Given the description of an element on the screen output the (x, y) to click on. 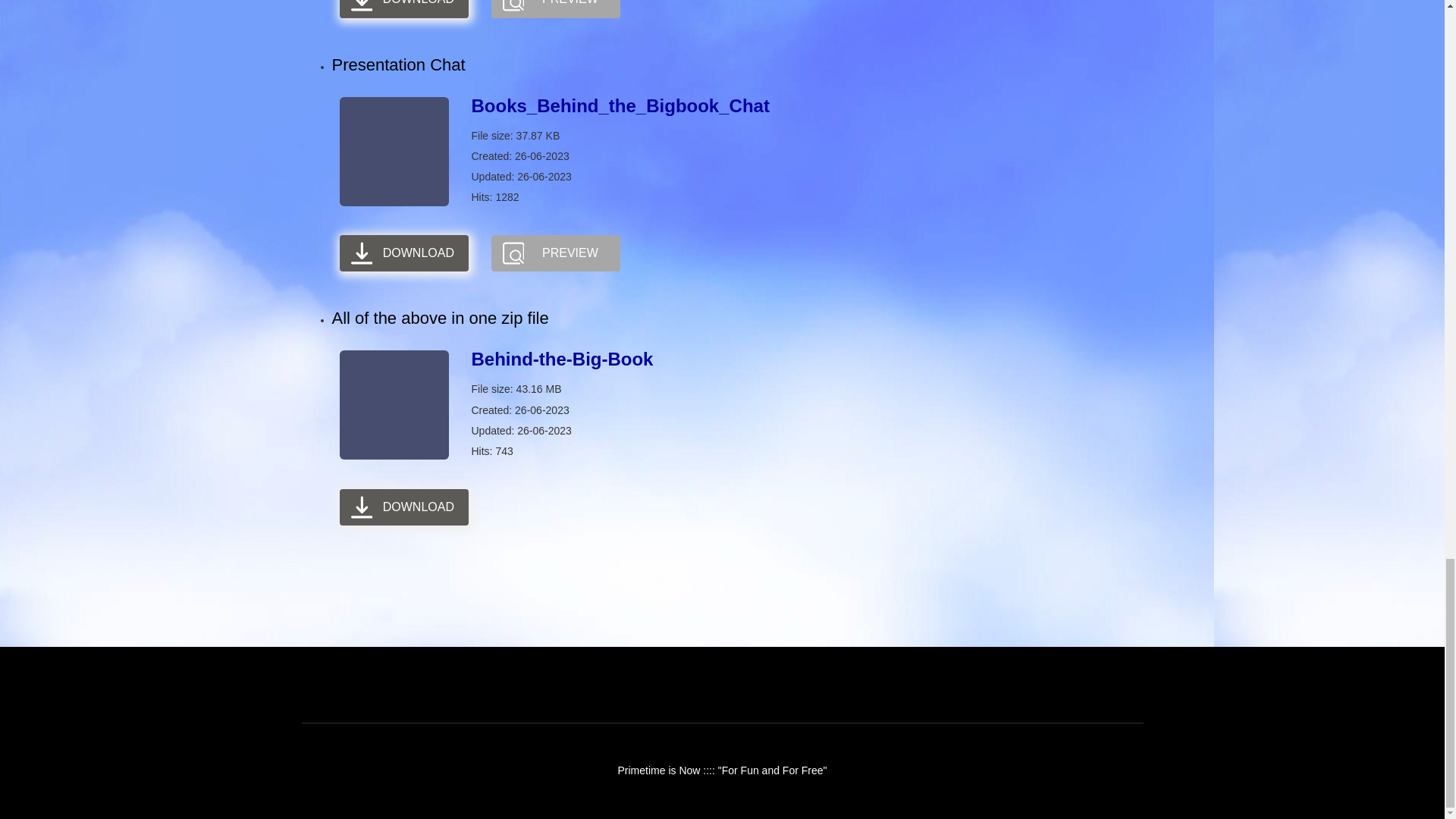
Books-Behind-the-Book (403, 9)
DOWNLOAD (403, 9)
Behind-the-Big-Book (403, 506)
